Given the description of an element on the screen output the (x, y) to click on. 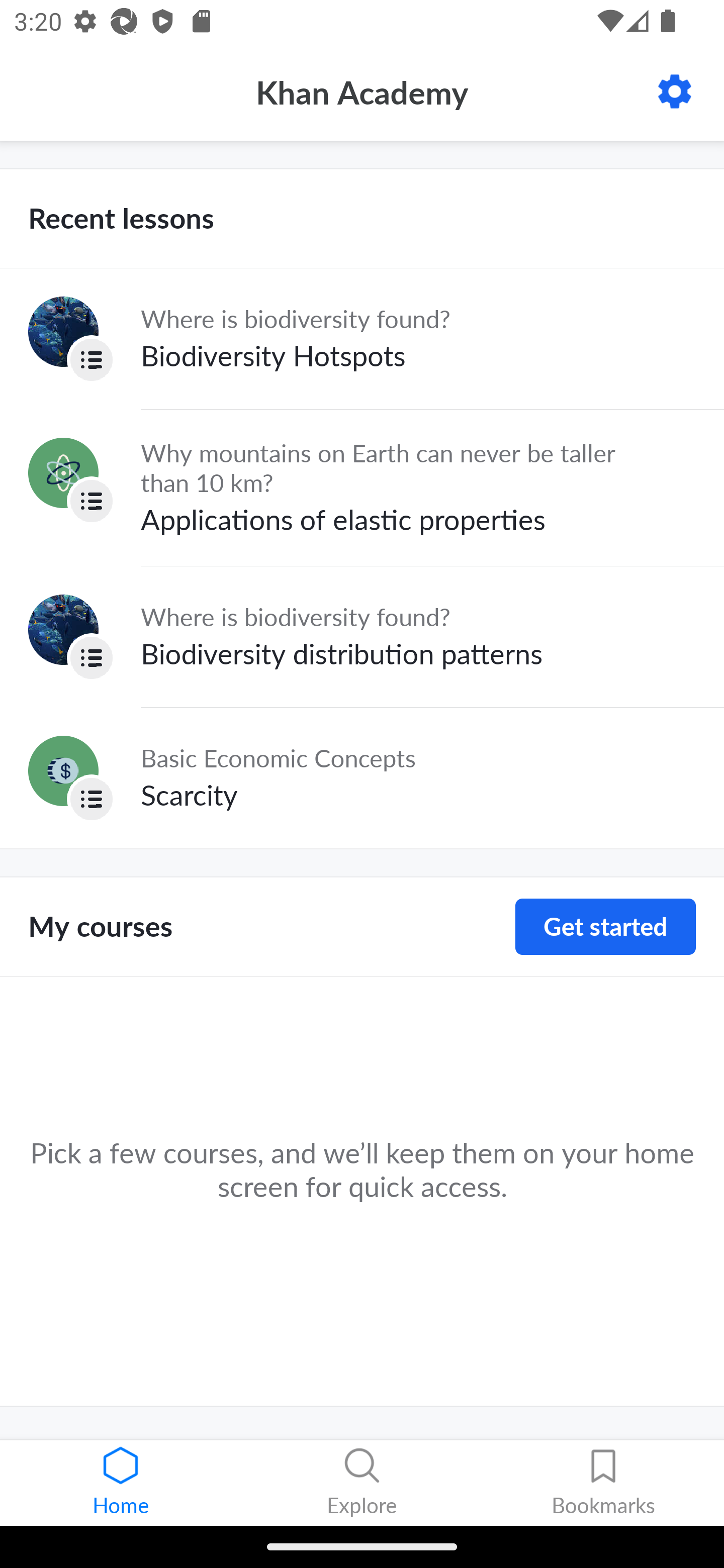
Settings (674, 91)
Lesson Basic Economic Concepts Scarcity (362, 777)
Get started (605, 926)
Home (120, 1482)
Explore (361, 1482)
Bookmarks (603, 1482)
